Given the description of an element on the screen output the (x, y) to click on. 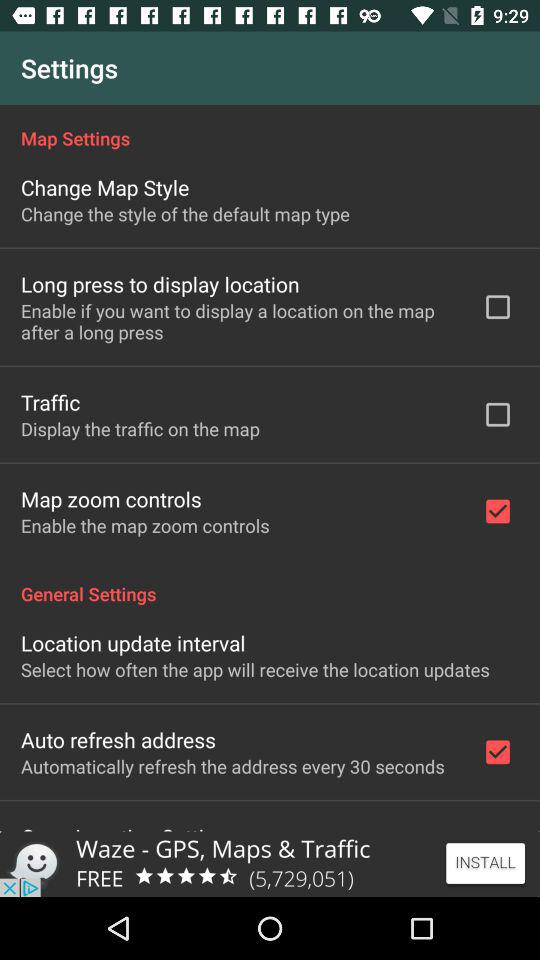
select the icon above the open location settings icon (232, 766)
